Given the description of an element on the screen output the (x, y) to click on. 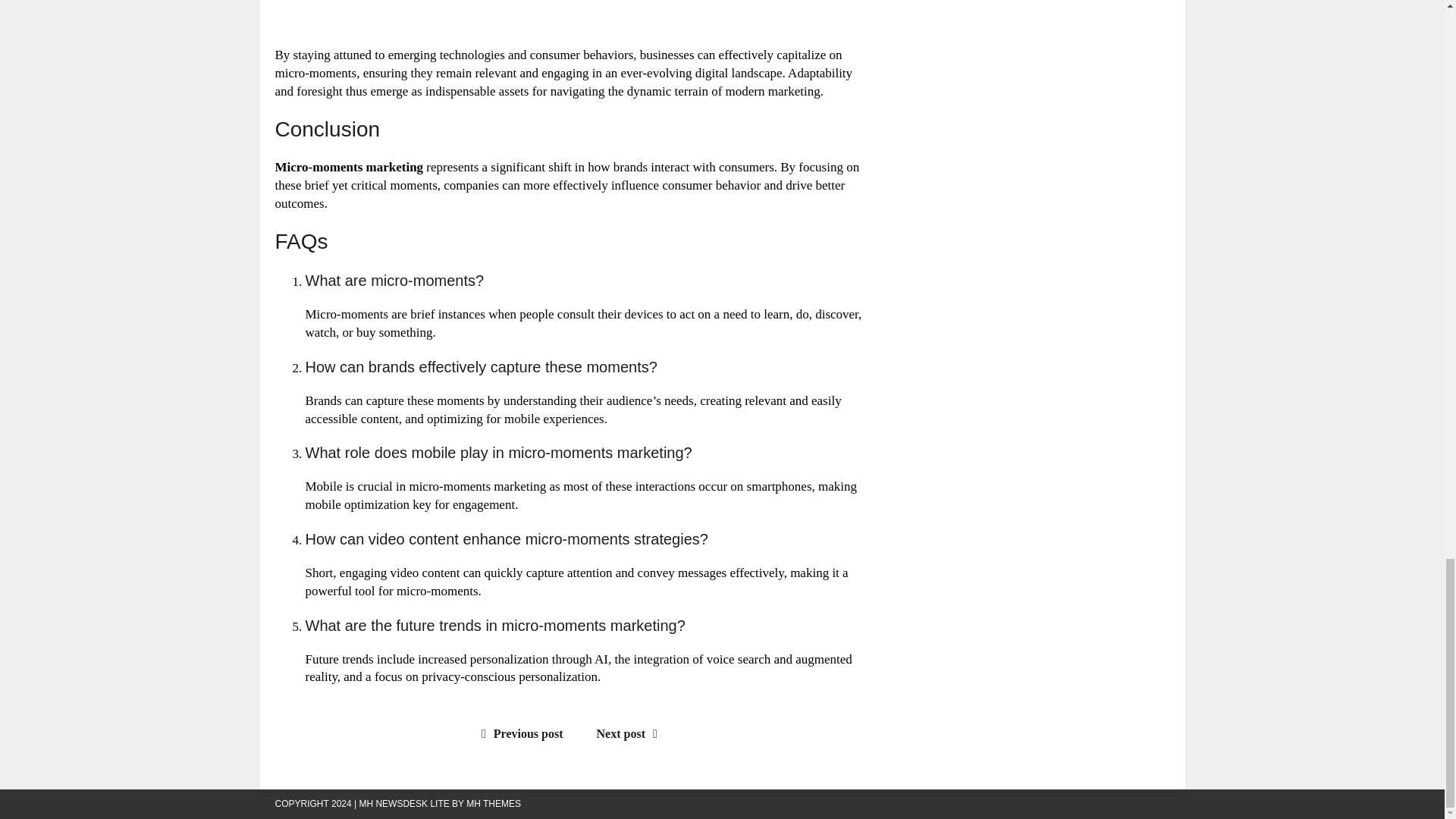
Previous post (518, 733)
Next post (630, 733)
